Given the description of an element on the screen output the (x, y) to click on. 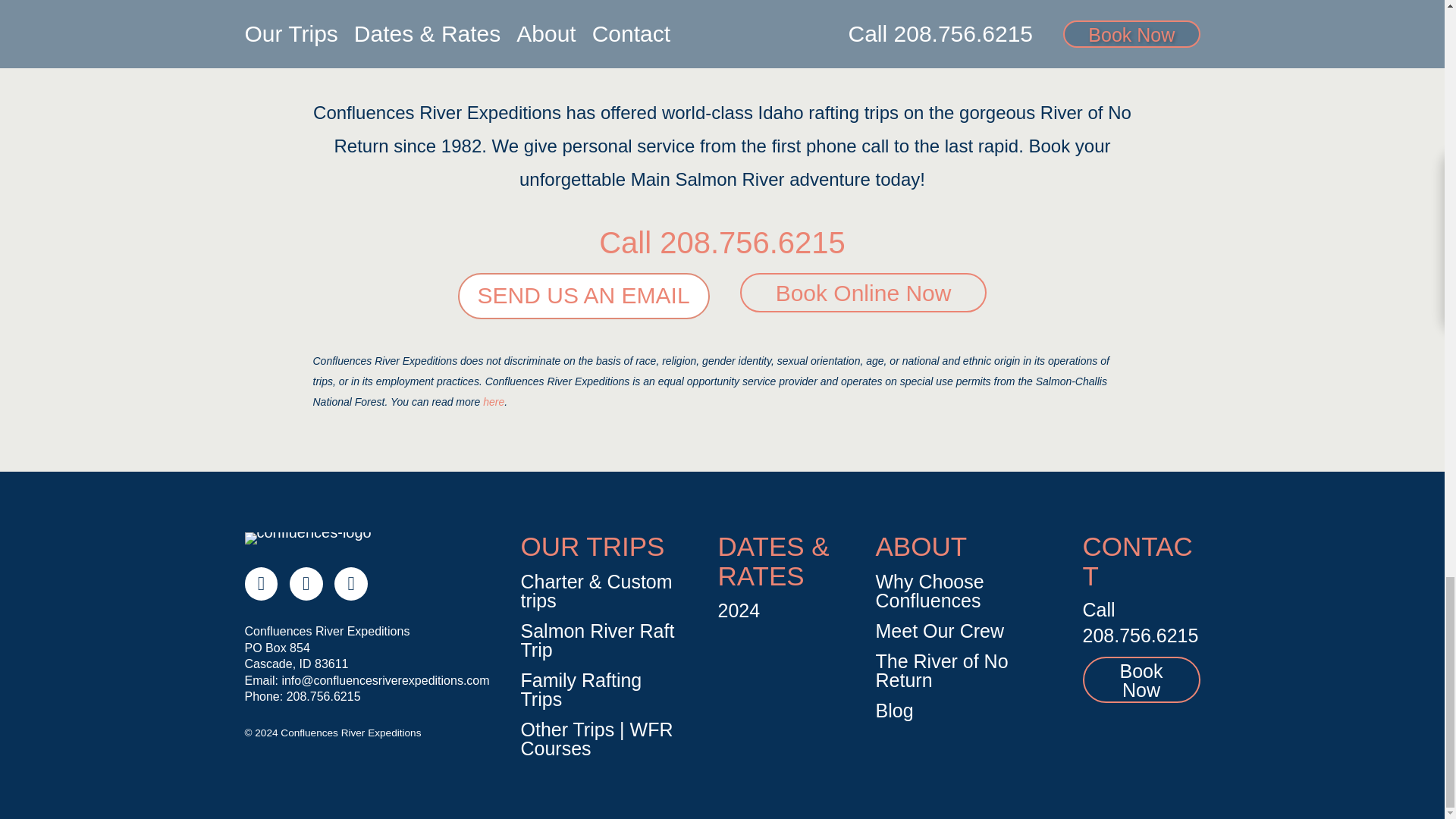
Call 208.756.6215 (721, 242)
here (493, 401)
SEND US AN EMAIL (584, 296)
confluences-logo (307, 538)
video-poster (722, 25)
